Given the description of an element on the screen output the (x, y) to click on. 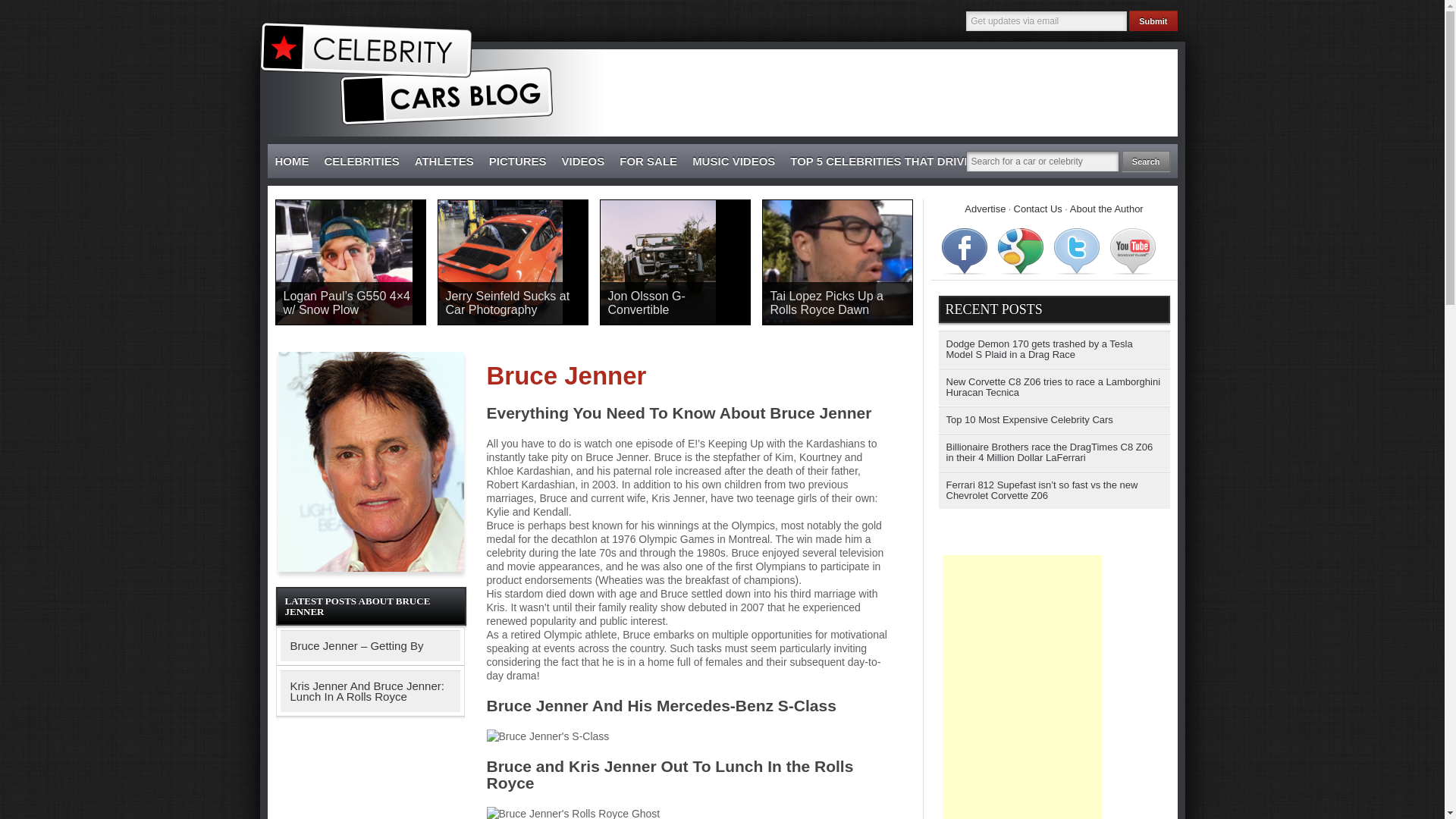
HOME (290, 161)
PICTURES (517, 161)
Search (1146, 160)
Jerry Seinfeld Sucks at Car Photography (513, 302)
Search (1146, 160)
About the Author (1106, 208)
YouTube (1132, 250)
Kris Jenner And Bruce Jenner: Lunch In A Rolls Royce (370, 690)
Twitter (1076, 250)
Advertise (984, 208)
VIDEOS (583, 161)
MUSIC VIDEOS (733, 161)
